Given the description of an element on the screen output the (x, y) to click on. 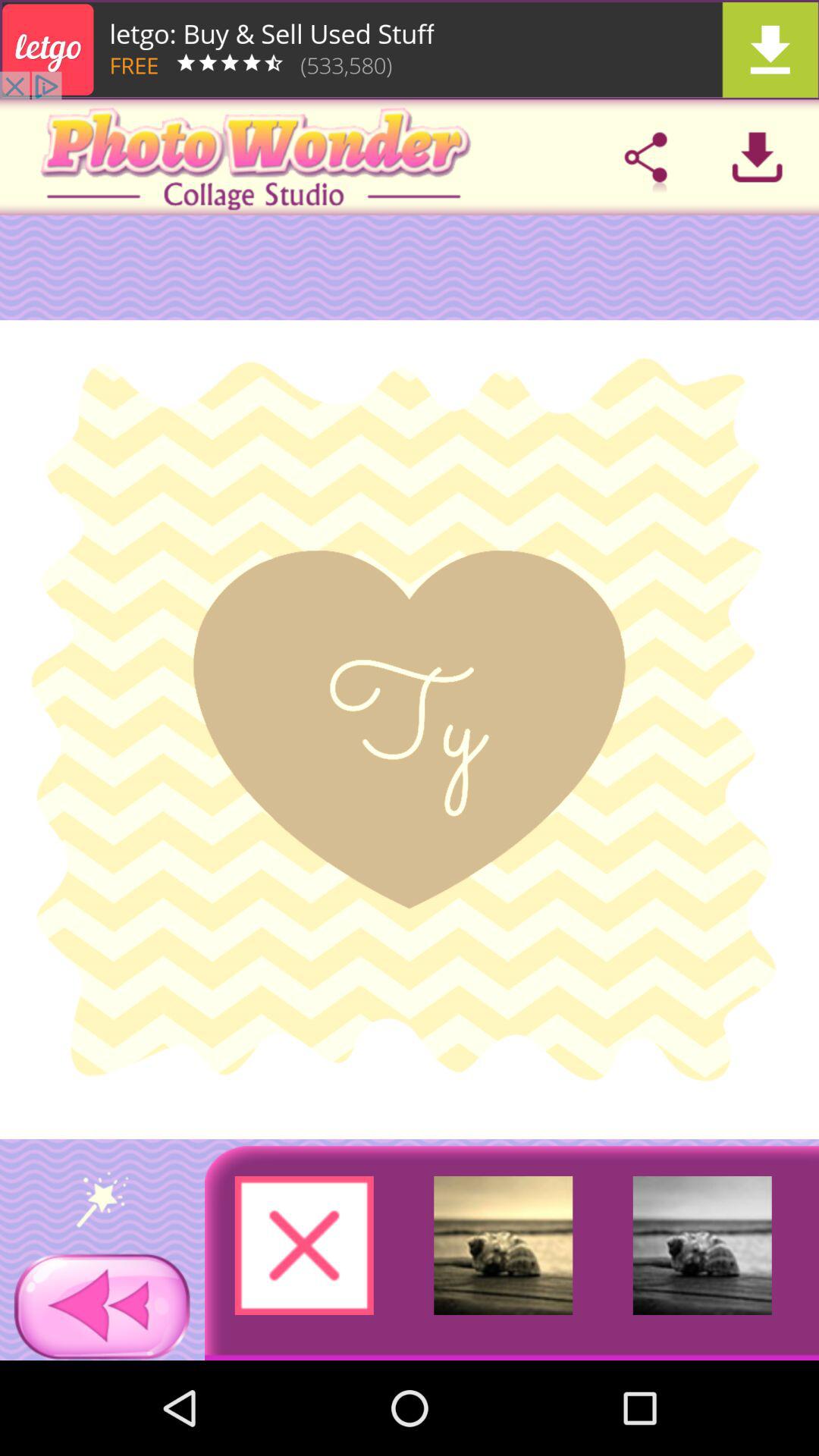
click on the first image from left at bottom (304, 1245)
click on the last image at the right corner bottom of the page (702, 1245)
